Given the description of an element on the screen output the (x, y) to click on. 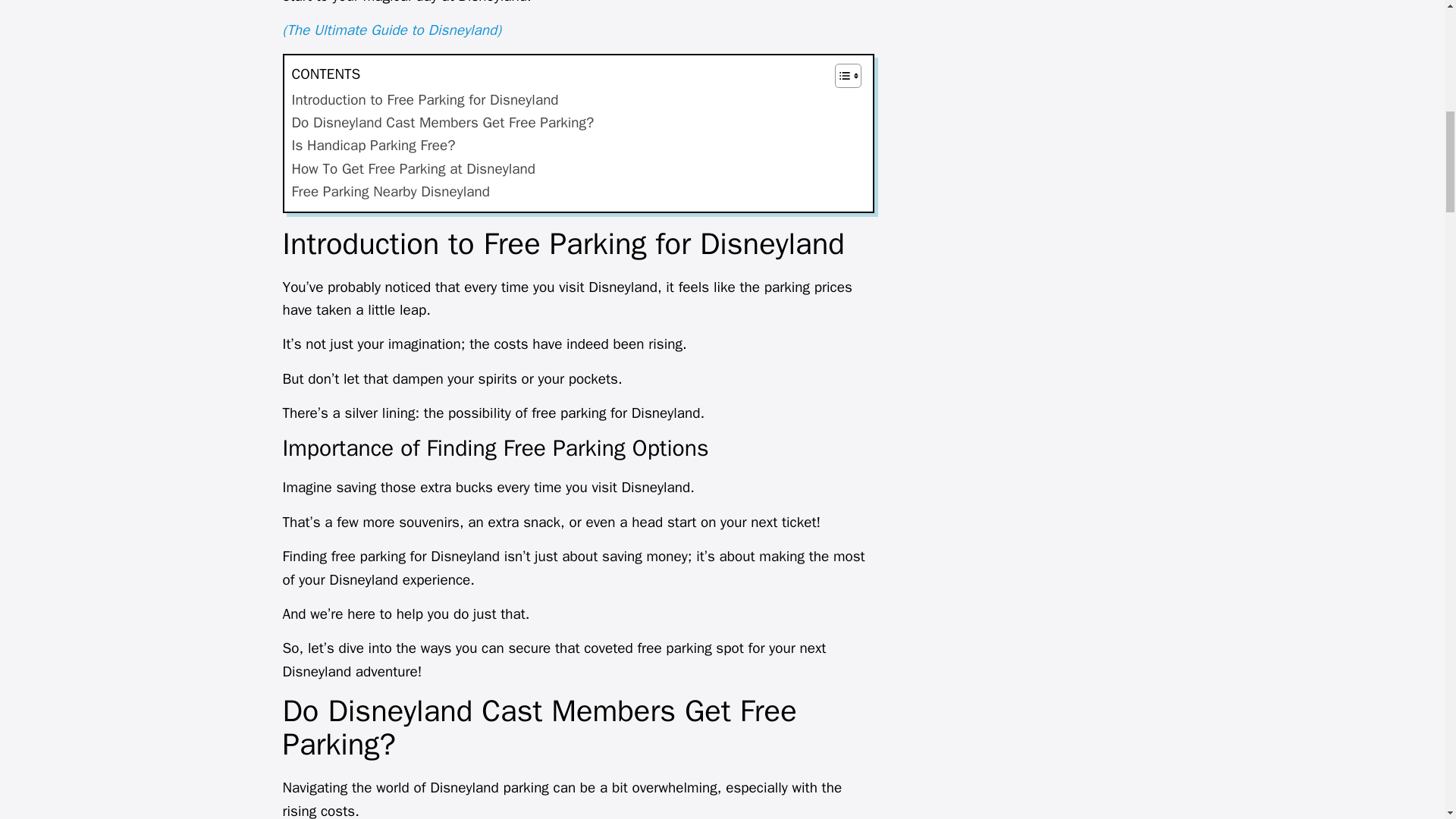
Do Disneyland Cast Members Get Free Parking? (442, 122)
How To Get Free Parking at Disneyland (412, 169)
Is Handicap Parking Free? (372, 145)
Do Disneyland Cast Members Get Free Parking? (442, 122)
Introduction to Free Parking for Disneyland (424, 99)
Free Parking Nearby Disneyland (390, 191)
Is Handicap Parking Free? (372, 145)
Introduction to Free Parking for Disneyland (424, 99)
Free Parking Nearby Disneyland (390, 191)
How To Get Free Parking at Disneyland (412, 169)
